Given the description of an element on the screen output the (x, y) to click on. 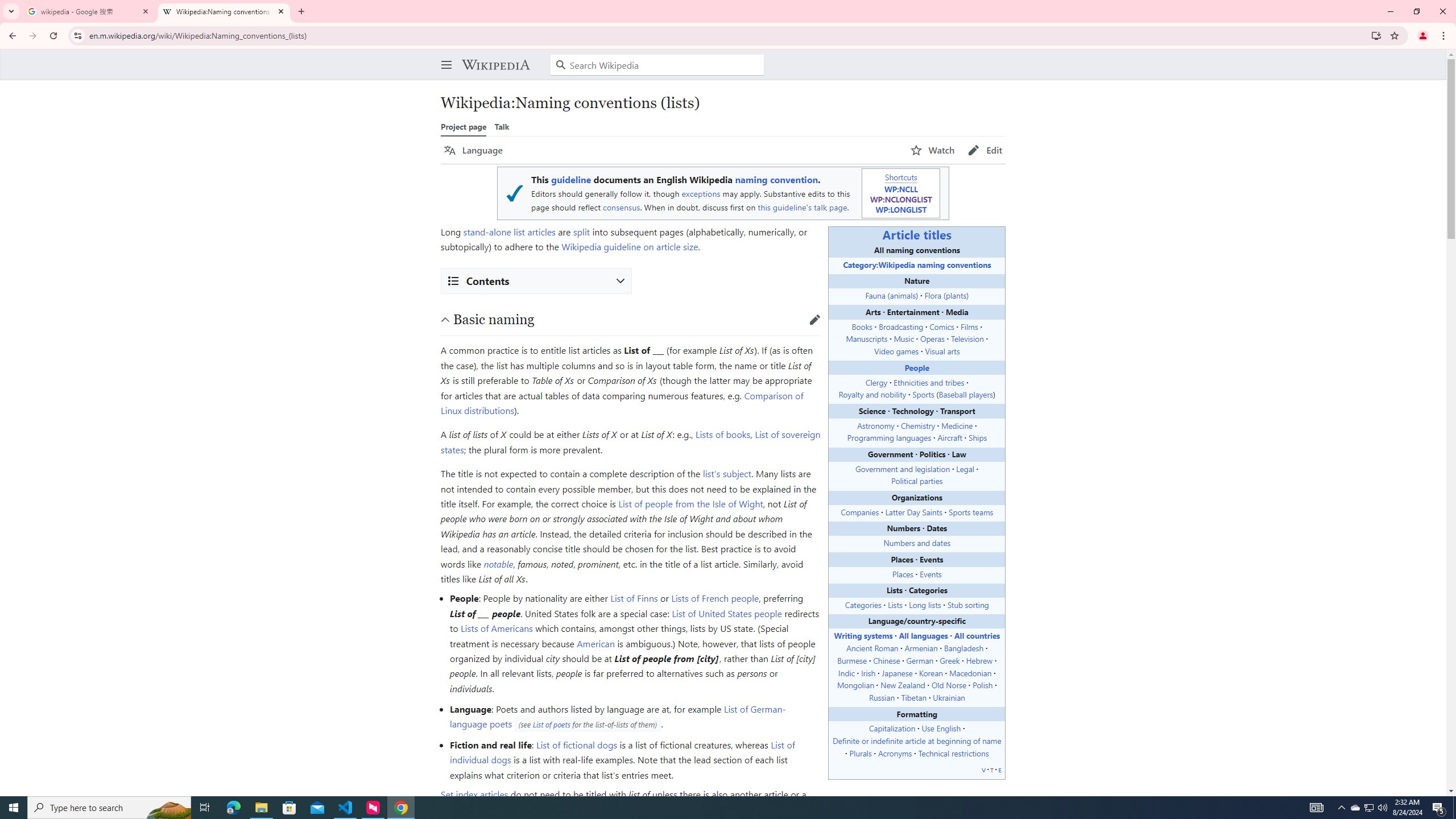
Sports teams (969, 511)
Stub sorting (967, 603)
Writing systems (863, 635)
Lists of French people (714, 598)
Manuscripts (866, 338)
Latter Day Saints (913, 511)
Wikipedia:Naming conventions (lists) - Wikipedia (224, 11)
List of German-language poets (617, 716)
List of United States people (726, 612)
Categories (862, 603)
Install Wikipedia (1376, 35)
